Given the description of an element on the screen output the (x, y) to click on. 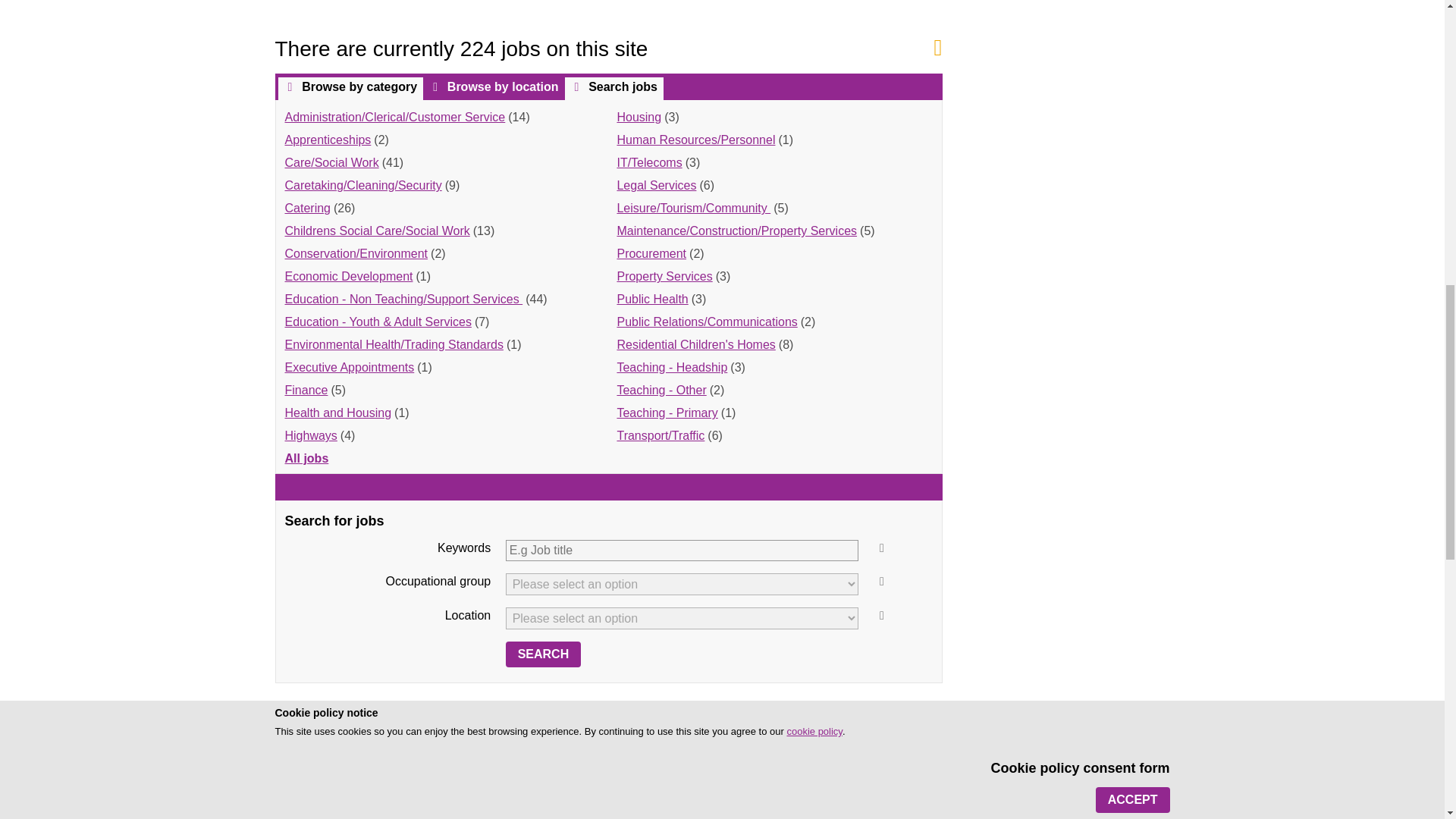
Executive Appointments (349, 367)
Health and Housing (338, 412)
Finance (307, 390)
Housing (638, 116)
Highways (311, 435)
Apprenticeships (328, 139)
subscribe to RSS feed (938, 47)
Economic Development (349, 276)
Catering (307, 207)
Apprenticeships (328, 139)
Catering (307, 207)
Economic Development (349, 276)
